Given the description of an element on the screen output the (x, y) to click on. 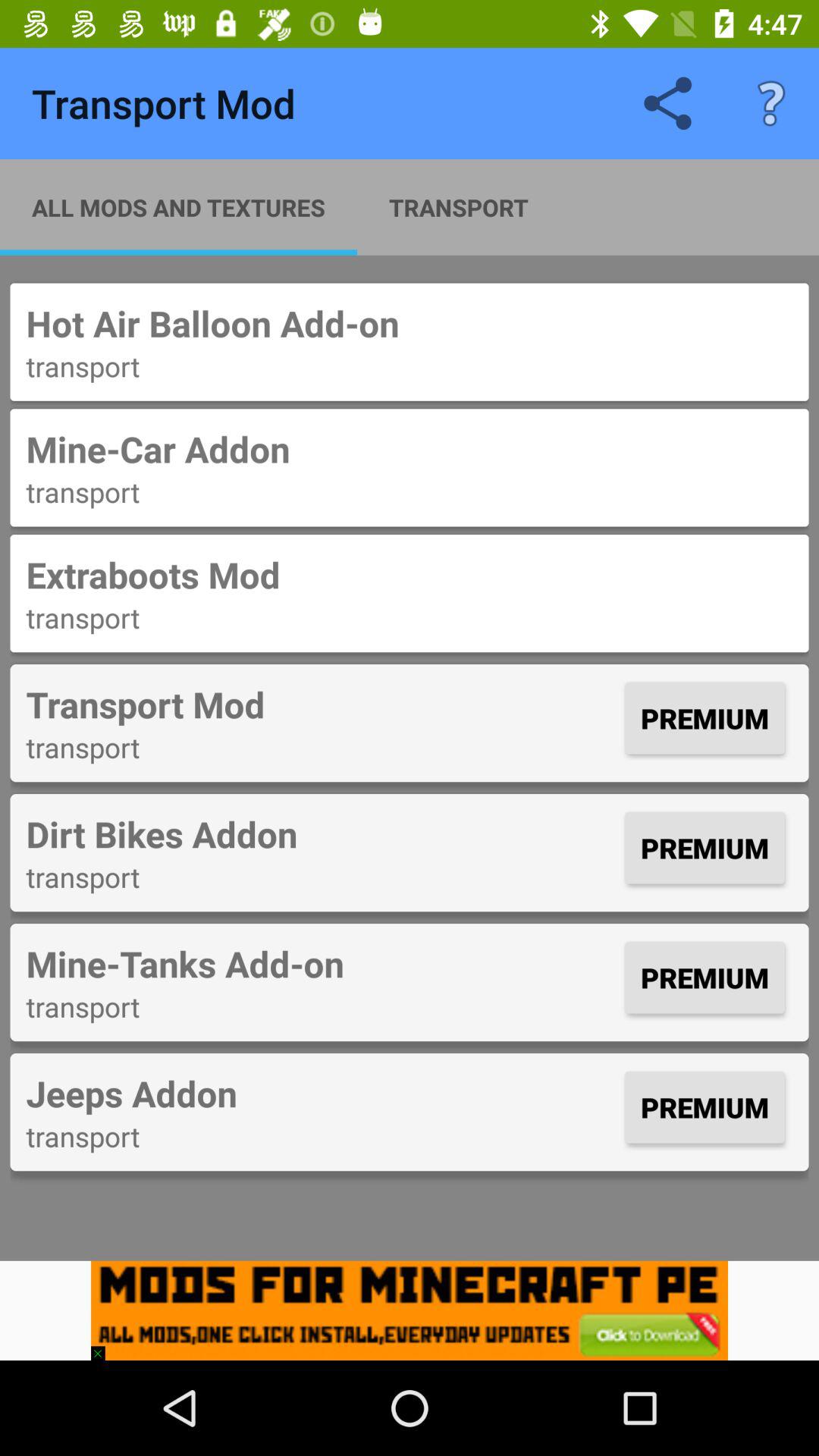
tap dirt bikes addon icon (321, 833)
